Given the description of an element on the screen output the (x, y) to click on. 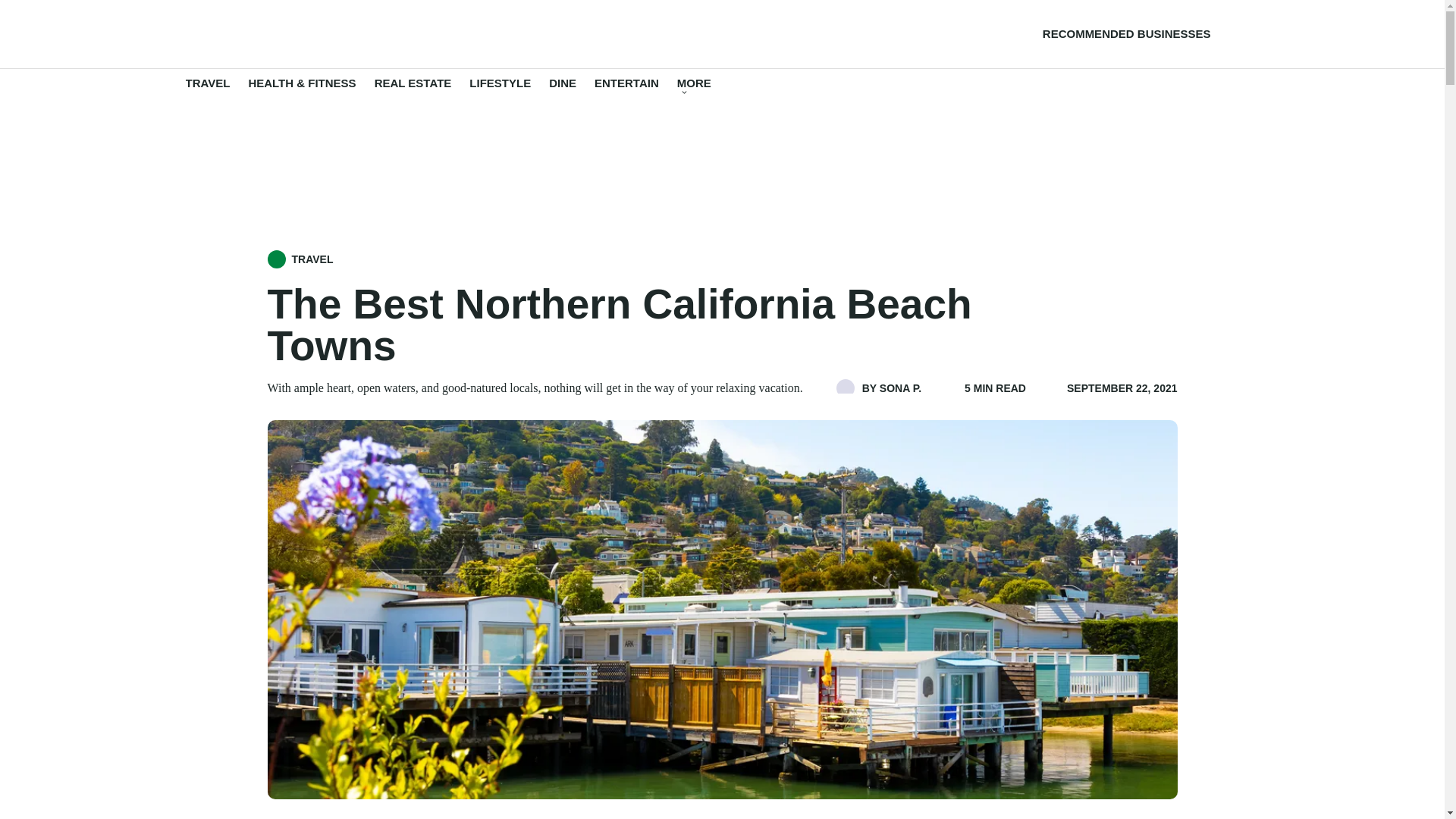
Real Estate (413, 87)
Dine (562, 87)
Lifestyle (500, 87)
TRAVEL (207, 87)
Entertain (626, 87)
RECOMMENDED BUSINESSES (1118, 34)
REAL ESTATE (413, 87)
Travel (207, 87)
